Given the description of an element on the screen output the (x, y) to click on. 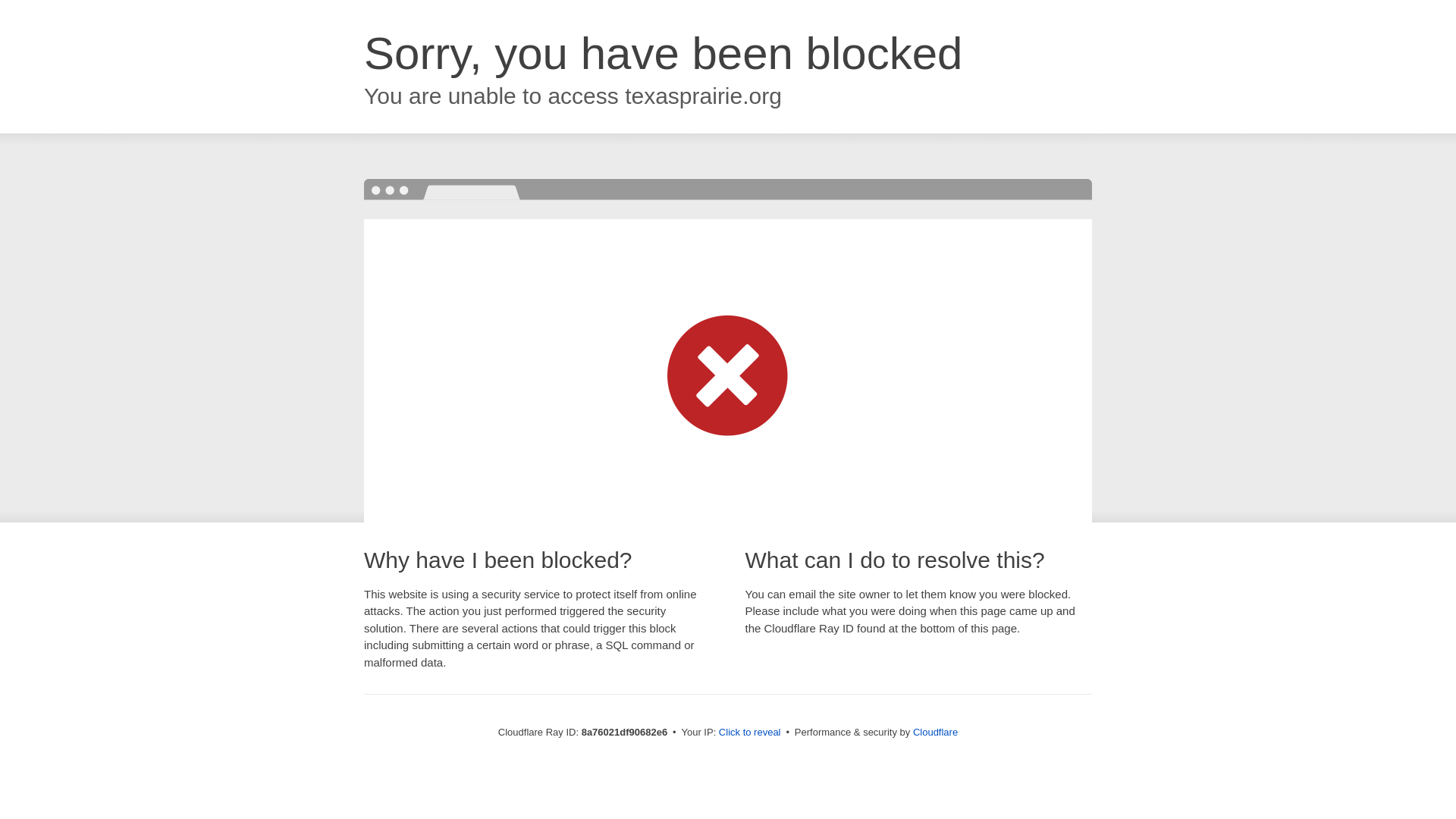
Click to reveal (749, 732)
Cloudflare (935, 731)
